Given the description of an element on the screen output the (x, y) to click on. 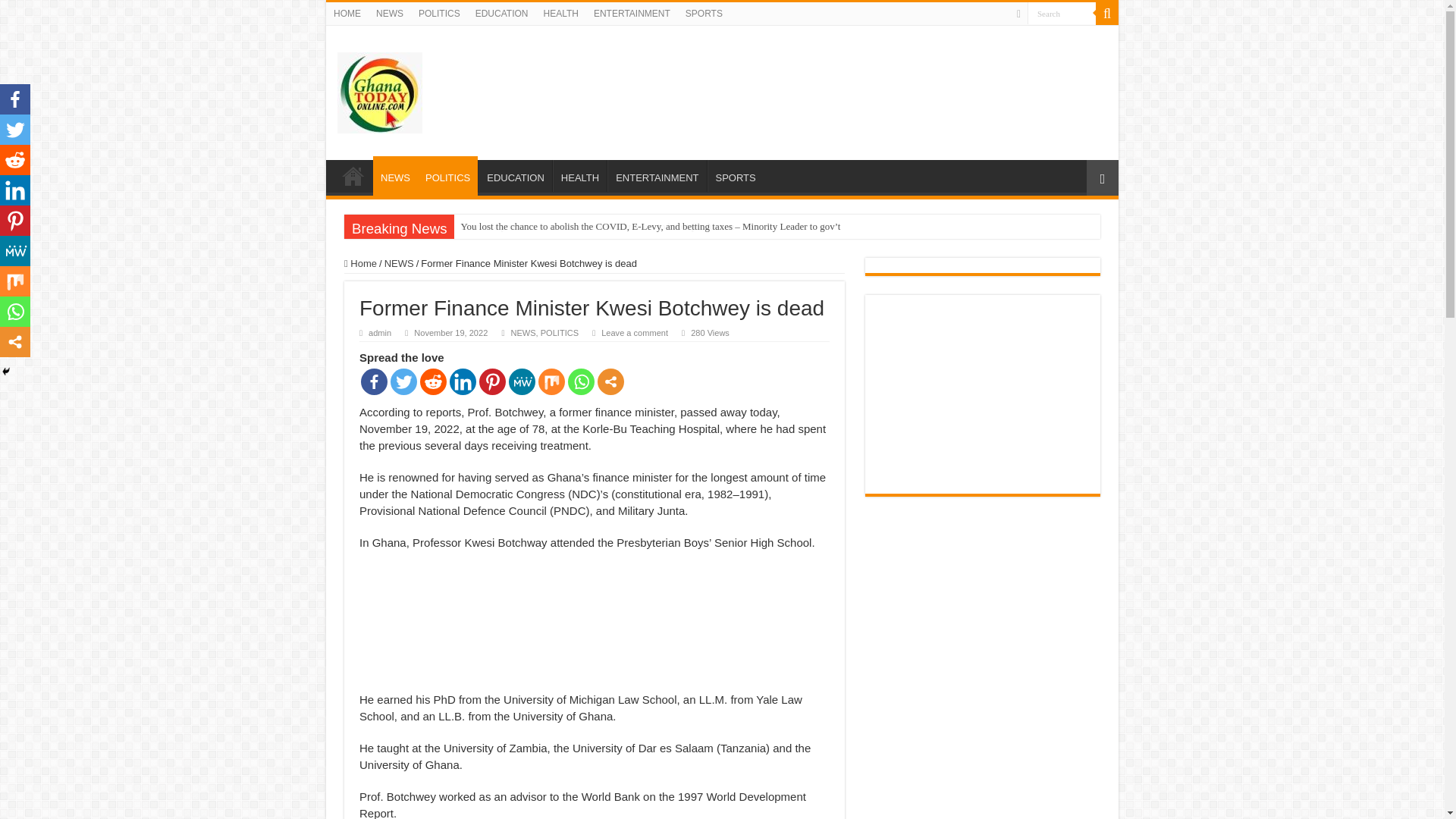
EDUCATION (515, 175)
HOME (347, 13)
POLITICS (438, 13)
Home (360, 263)
ENTERTAINMENT (656, 175)
ENTERTAINMENT (632, 13)
HOME (352, 175)
HEALTH (580, 175)
Search (1107, 13)
NEWS (398, 263)
POLITICS (447, 175)
HEALTH (560, 13)
NEWS (394, 175)
Search (1061, 13)
